Given the description of an element on the screen output the (x, y) to click on. 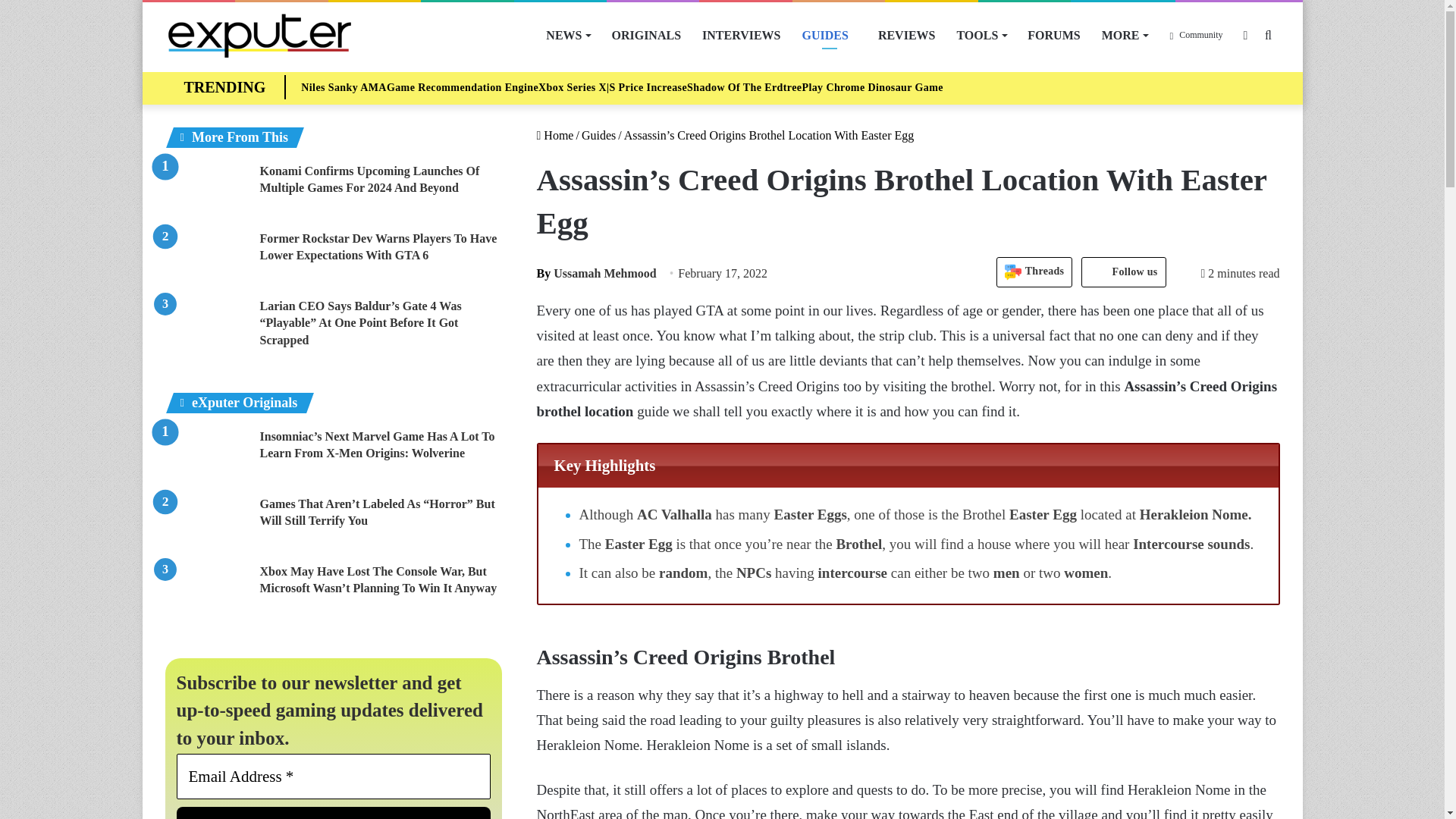
GUIDES (829, 35)
INTERVIEWS (740, 35)
FORUMS (1053, 35)
JOIN THE  CLUB (333, 812)
Ussamah Mehmood (596, 273)
NEWS (567, 35)
Email Address (333, 776)
REVIEWS (906, 35)
ORIGINALS (645, 35)
eXputer.com (259, 34)
